Given the description of an element on the screen output the (x, y) to click on. 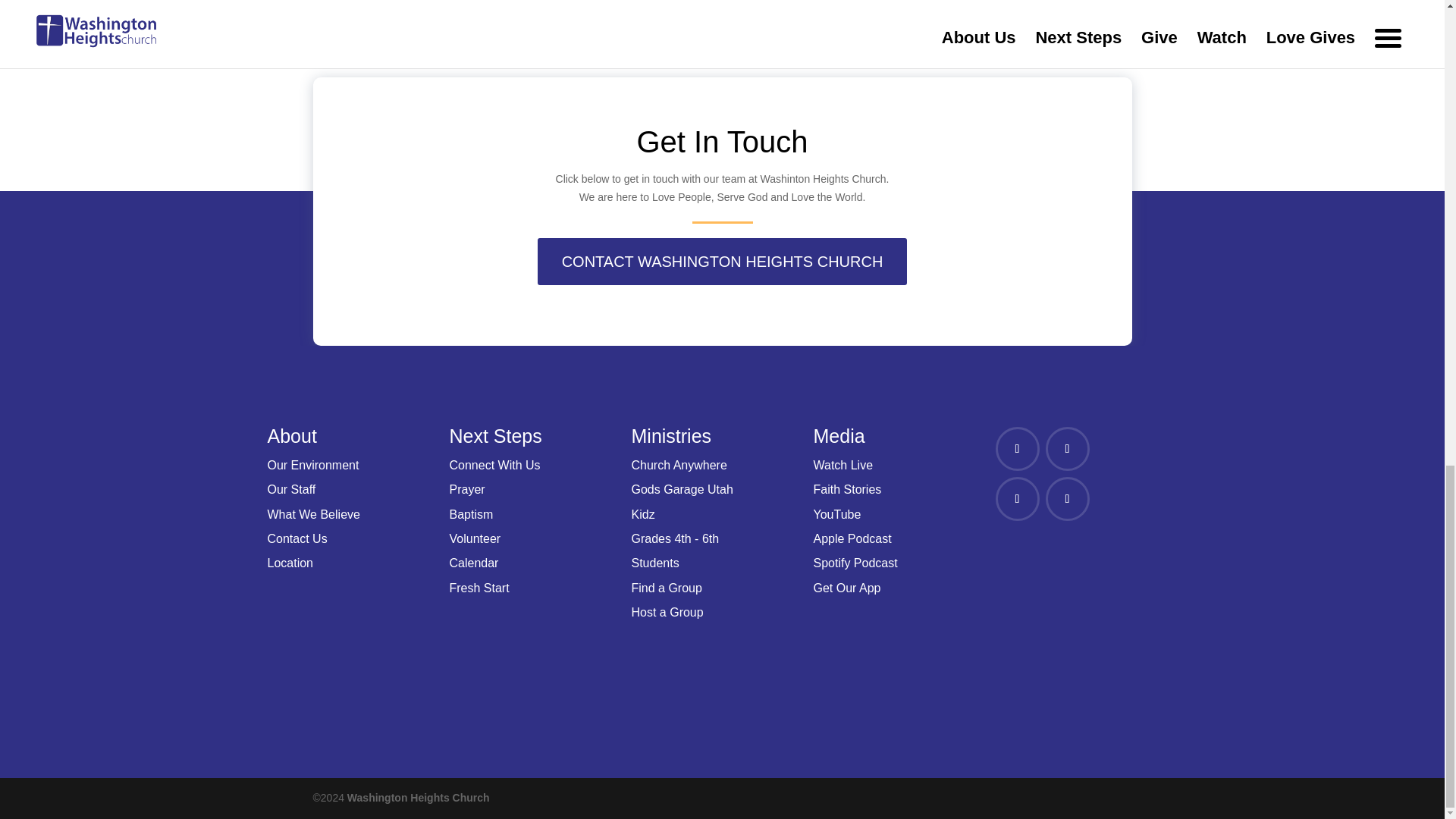
Follow on X (1067, 448)
Follow on Facebook (1016, 448)
Follow on Youtube (1067, 498)
Follow on Instagram (1016, 498)
